Given the description of an element on the screen output the (x, y) to click on. 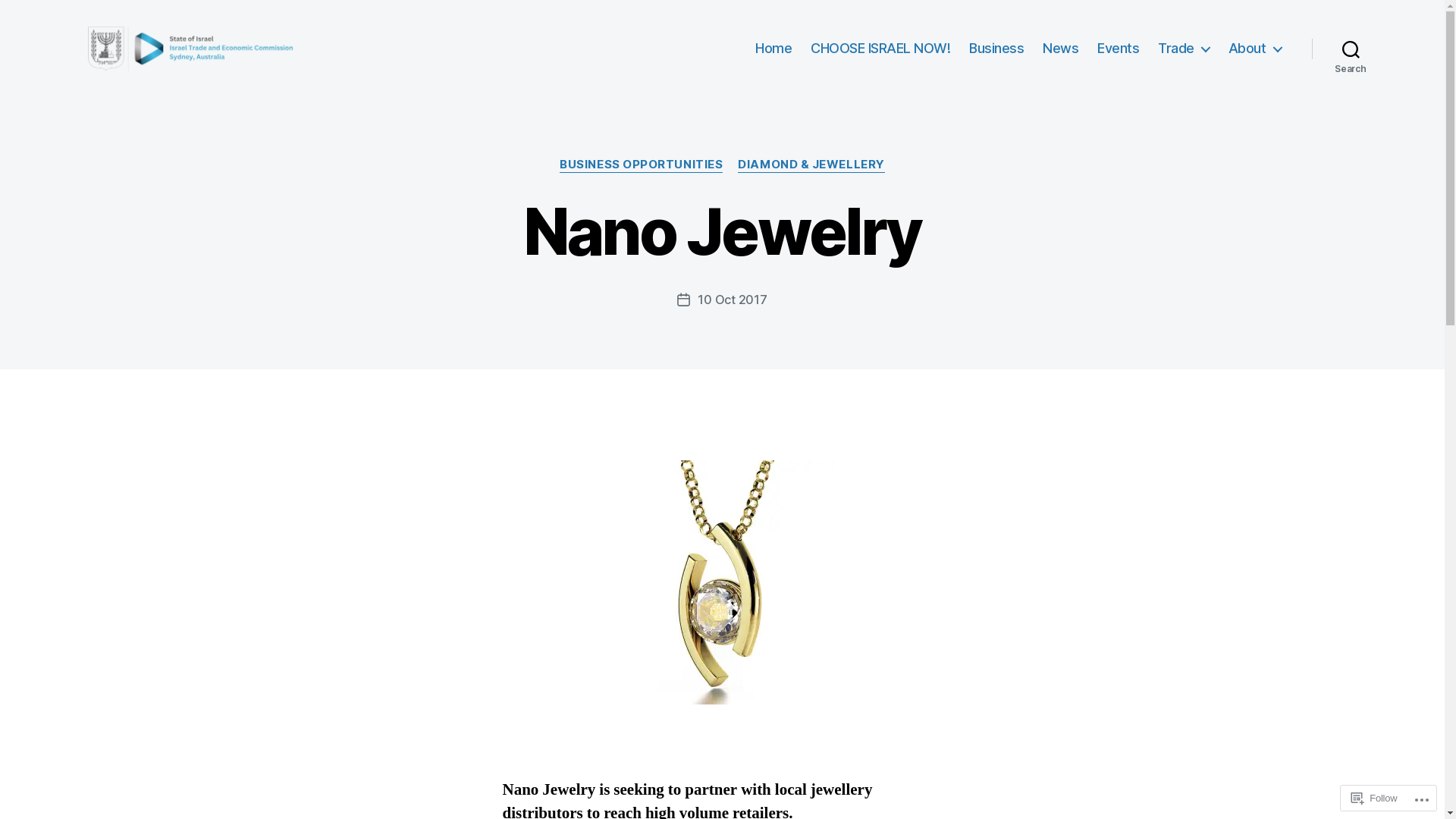
10 Oct 2017 Element type: text (731, 299)
BUSINESS OPPORTUNITIES Element type: text (640, 164)
Events Element type: text (1118, 48)
News Element type: text (1060, 48)
CHOOSE ISRAEL NOW! Element type: text (880, 48)
Follow Element type: text (1373, 797)
Trade Element type: text (1183, 48)
DIAMOND & JEWELLERY Element type: text (810, 164)
Home Element type: text (773, 48)
Search Element type: text (1350, 48)
About Element type: text (1254, 48)
Business Element type: text (996, 48)
